Given the description of an element on the screen output the (x, y) to click on. 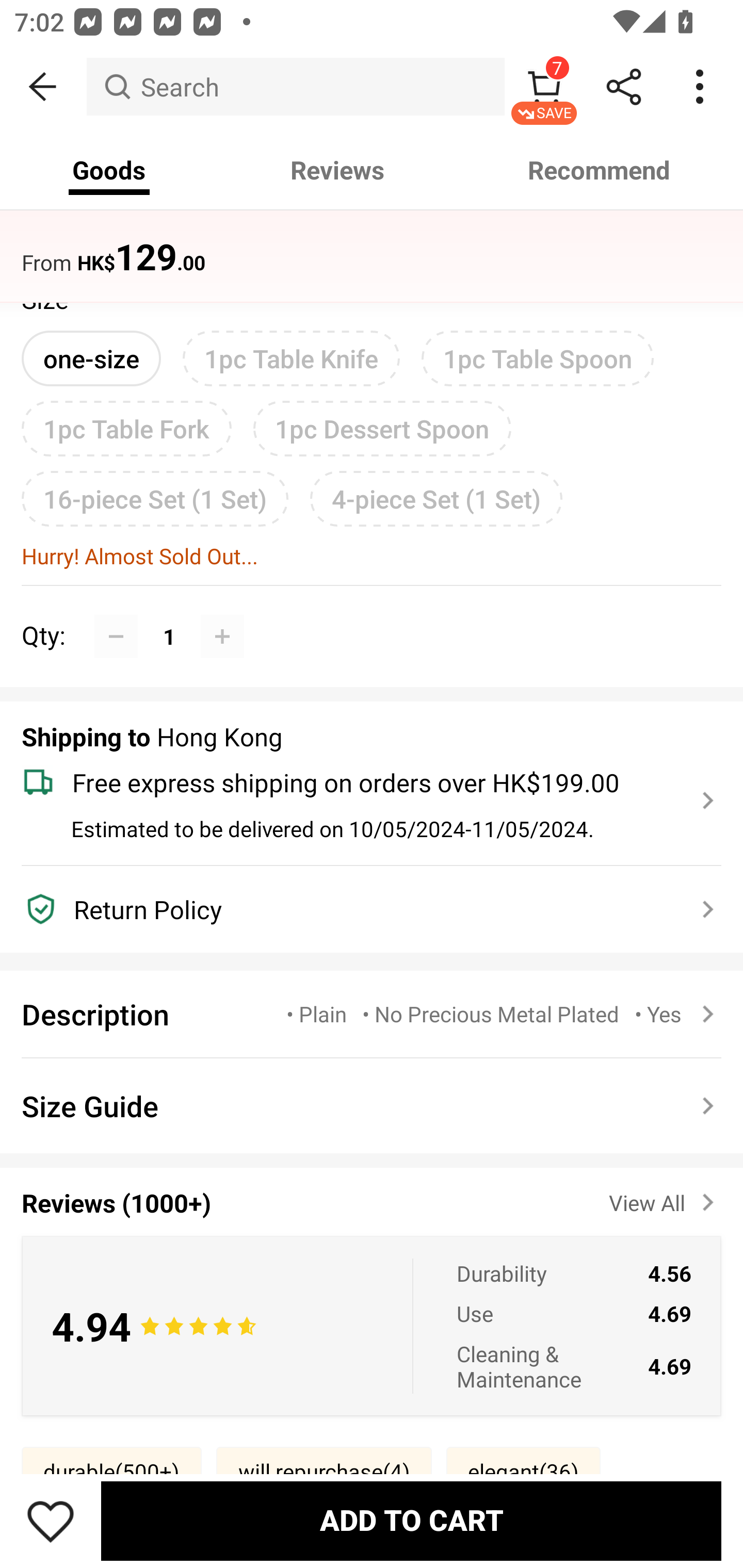
BACK (43, 86)
7 SAVE (543, 87)
Search (295, 87)
Goods (109, 170)
Reviews (337, 170)
Recommend (599, 170)
one-size 1pc Table Spoonunselected option (91, 357)
1pc Table Knife 1pc Table Fork (290, 357)
1pc Table Spoon 1pc Dessert Spoon (537, 357)
1pc Table Fork 16-piece Set (1 Set) (126, 428)
1pc Dessert Spoon 4-piece Set (1 Set) (382, 428)
16-piece Set (1 Set) (154, 498)
4-piece Set (1 Set) (435, 498)
Hurry! Almost Sold Out... (371, 555)
Qty: 1 (371, 614)
Return Policy (359, 909)
Size Guide (371, 1106)
View All (664, 1198)
durable(500‎+) (111, 1471)
ADD TO CART (411, 1520)
Save (50, 1520)
